Given the description of an element on the screen output the (x, y) to click on. 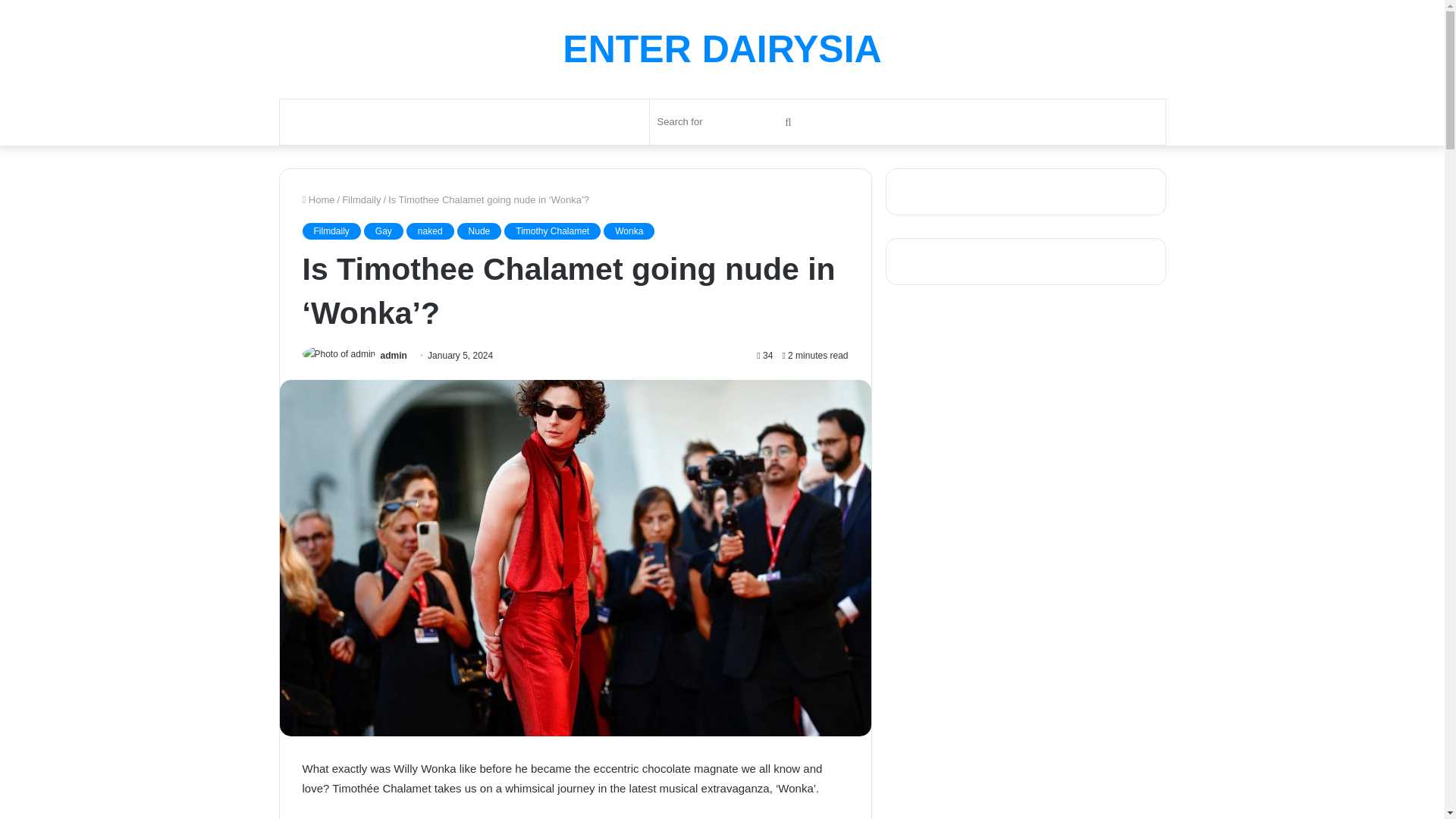
Timothy Chalamet (551, 230)
Search for (788, 121)
Filmdaily (330, 230)
Home (317, 199)
ENTER DAIRYSIA (721, 48)
naked (430, 230)
admin (393, 355)
ENTER DAIRYSIA (721, 48)
Gay (383, 230)
Nude (479, 230)
Wonka (628, 230)
admin (393, 355)
Filmdaily (361, 199)
Search for (726, 121)
